Given the description of an element on the screen output the (x, y) to click on. 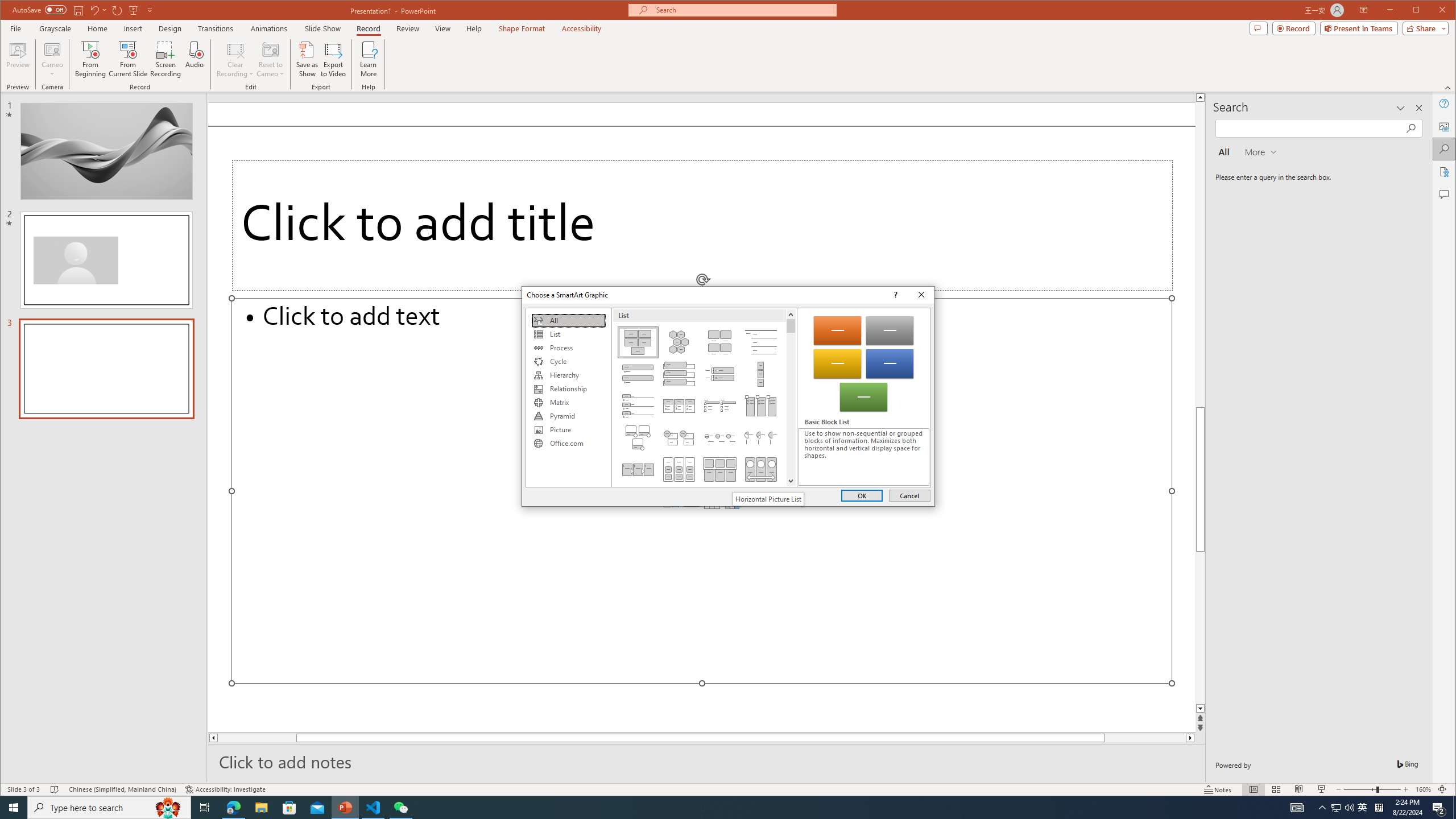
Process (568, 347)
Learn More (368, 59)
Cycle (568, 361)
Hierarchy (568, 375)
Horizontal Picture List (719, 469)
